Given the description of an element on the screen output the (x, y) to click on. 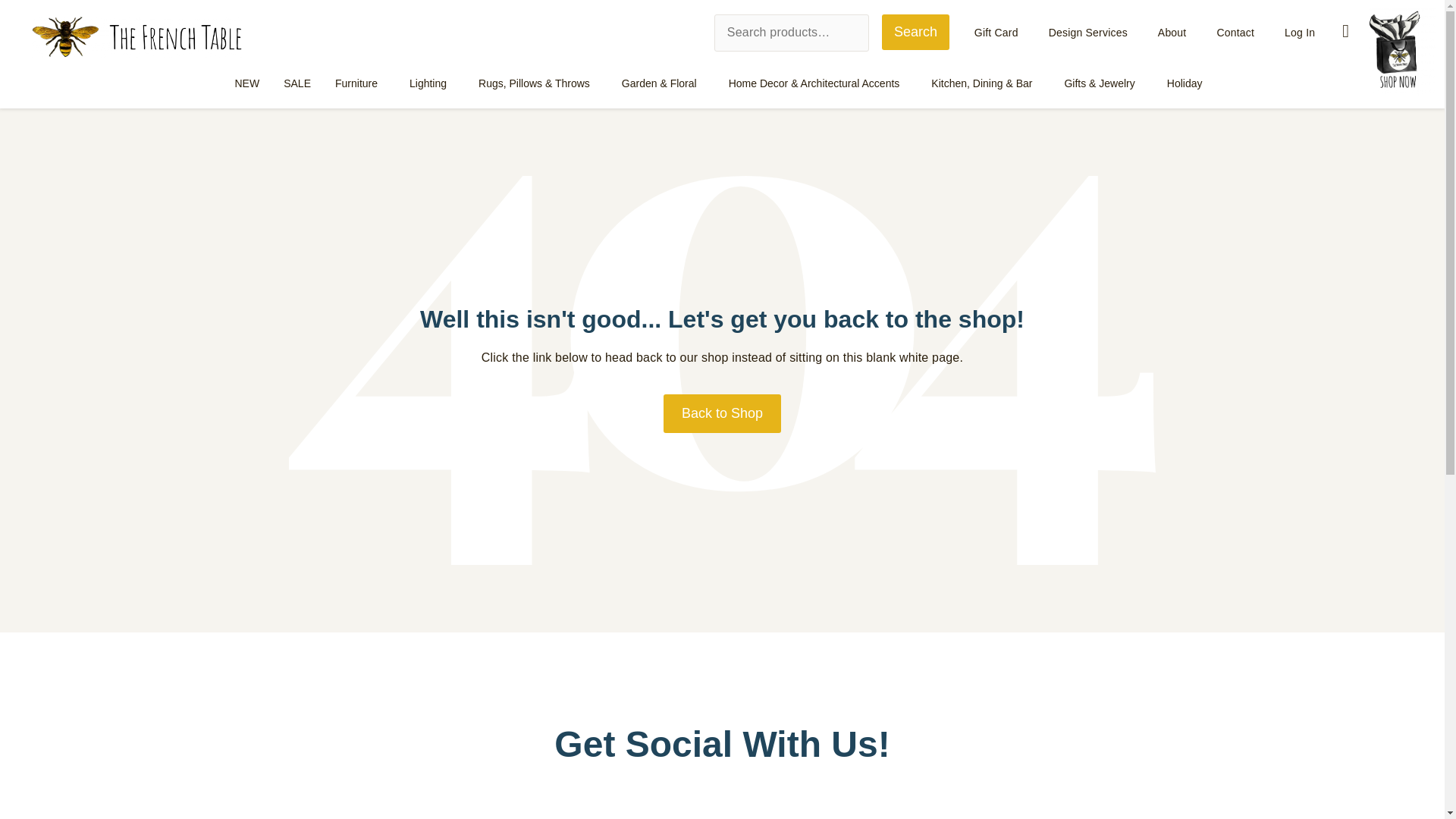
SALE (296, 83)
Design Services (1087, 33)
Gift Card (996, 33)
Search (915, 31)
Contact (1235, 33)
Lighting (431, 83)
Furniture (360, 83)
NEW (247, 83)
Log In (1299, 33)
About (1172, 33)
